Given the description of an element on the screen output the (x, y) to click on. 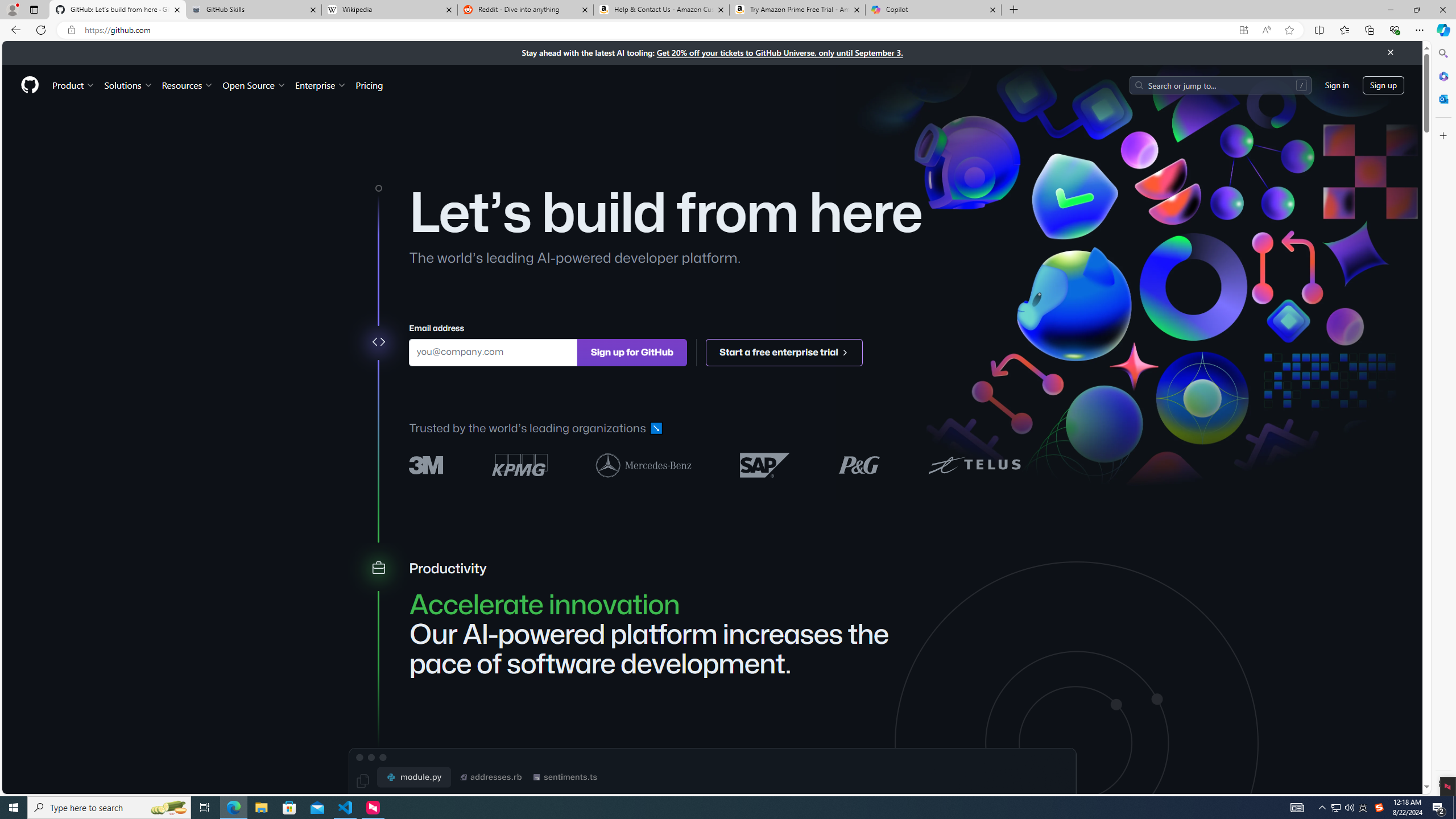
View site information (70, 29)
Refresh (40, 29)
Sign in (1336, 84)
SAP logo (764, 464)
Restore (1416, 9)
Homepage (29, 85)
Close tab (992, 9)
Reddit - Dive into anything (525, 9)
Search (1442, 53)
Start a free enterprise trial  (784, 352)
Address and search bar (658, 29)
Product (74, 84)
Sign up for GitHub (631, 352)
Favorites (1344, 29)
